Given the description of an element on the screen output the (x, y) to click on. 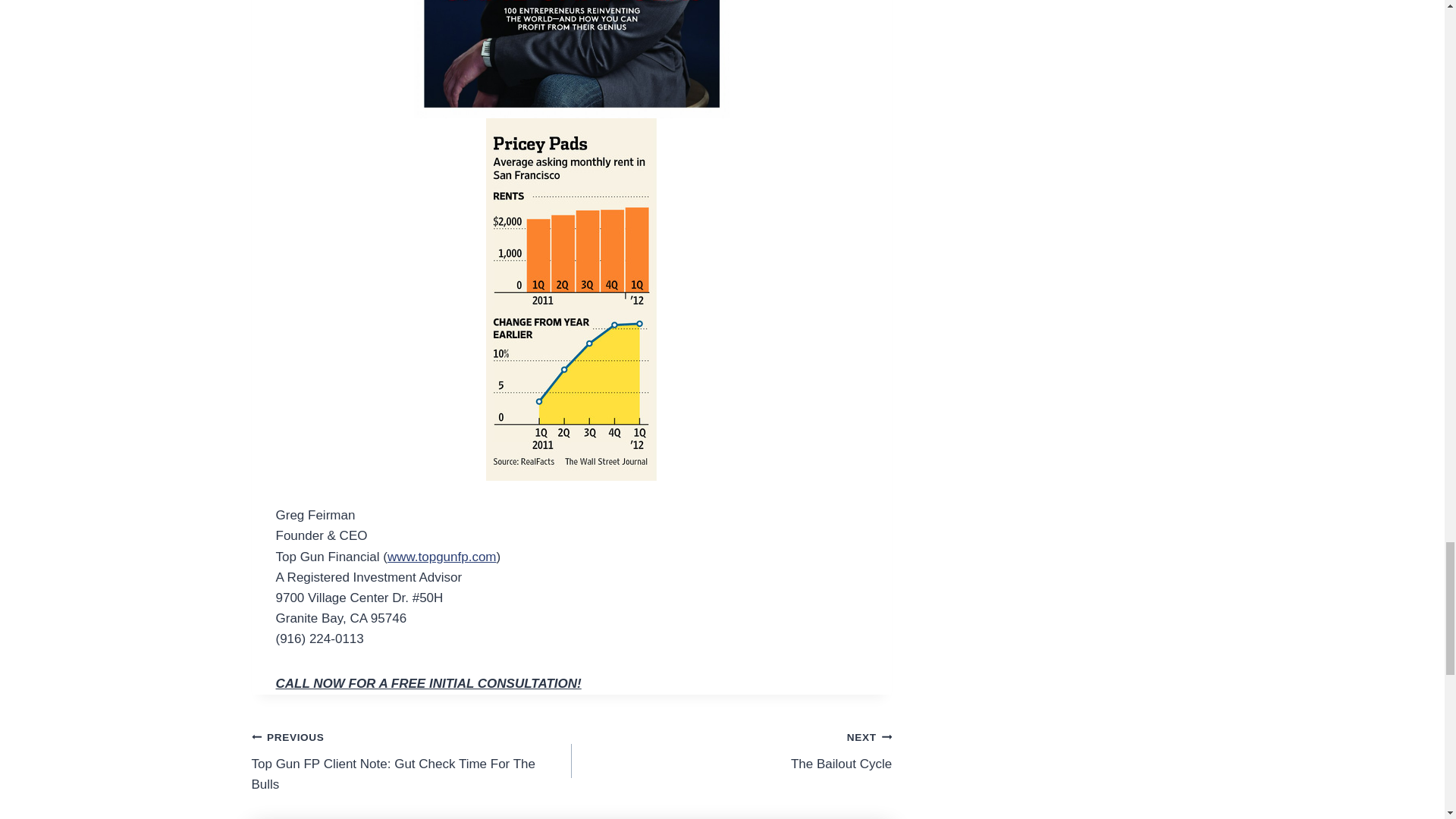
www.topgunfp.com (441, 556)
Forbes cover 1107 subs poly r1 outline (571, 58)
